Given the description of an element on the screen output the (x, y) to click on. 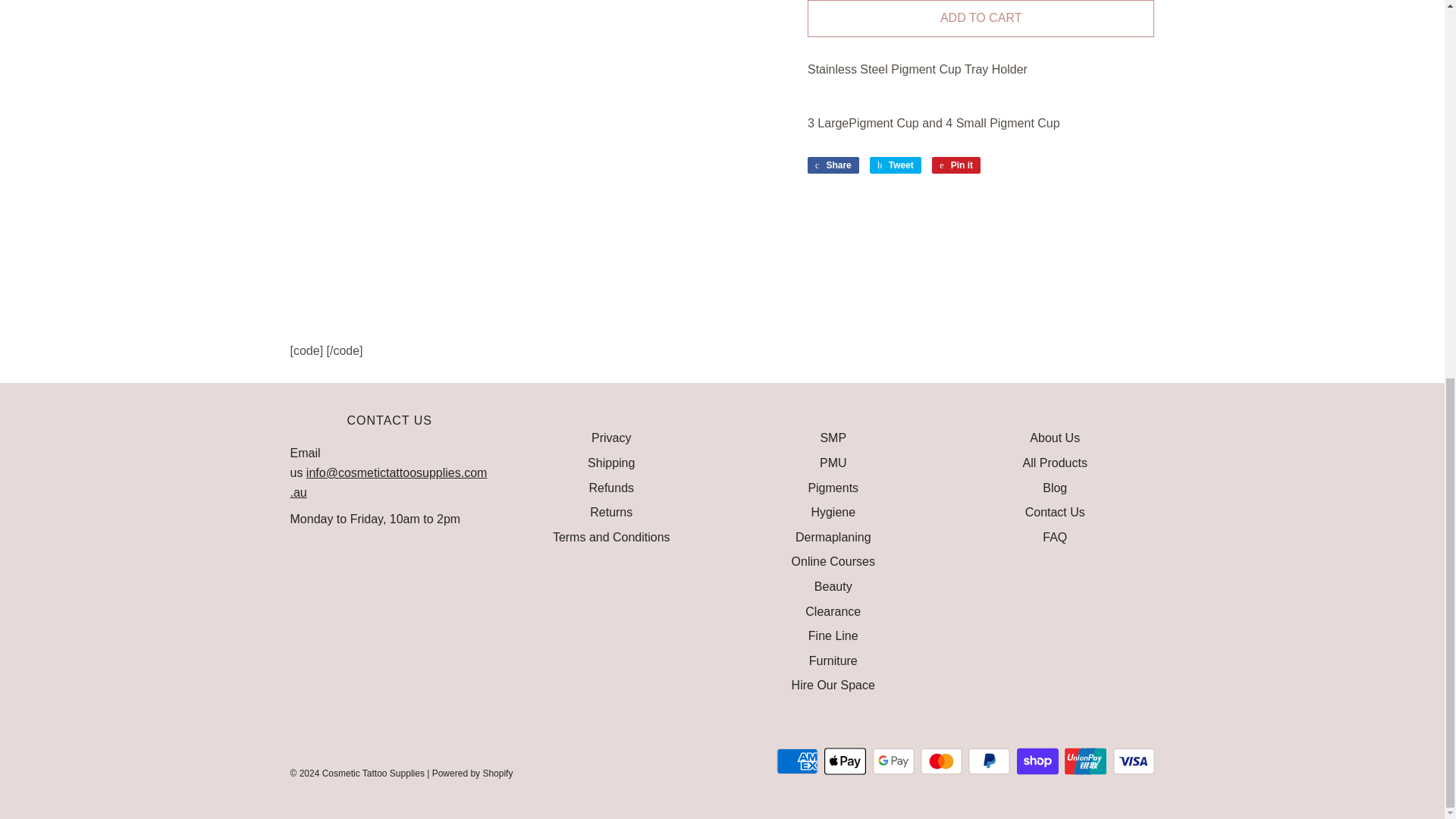
Visa (1133, 761)
Apple Pay (845, 761)
Mastercard (941, 761)
Union Pay (1085, 761)
Shop Pay (1037, 761)
American Express (797, 761)
PayPal (989, 761)
Google Pay (893, 761)
